Given the description of an element on the screen output the (x, y) to click on. 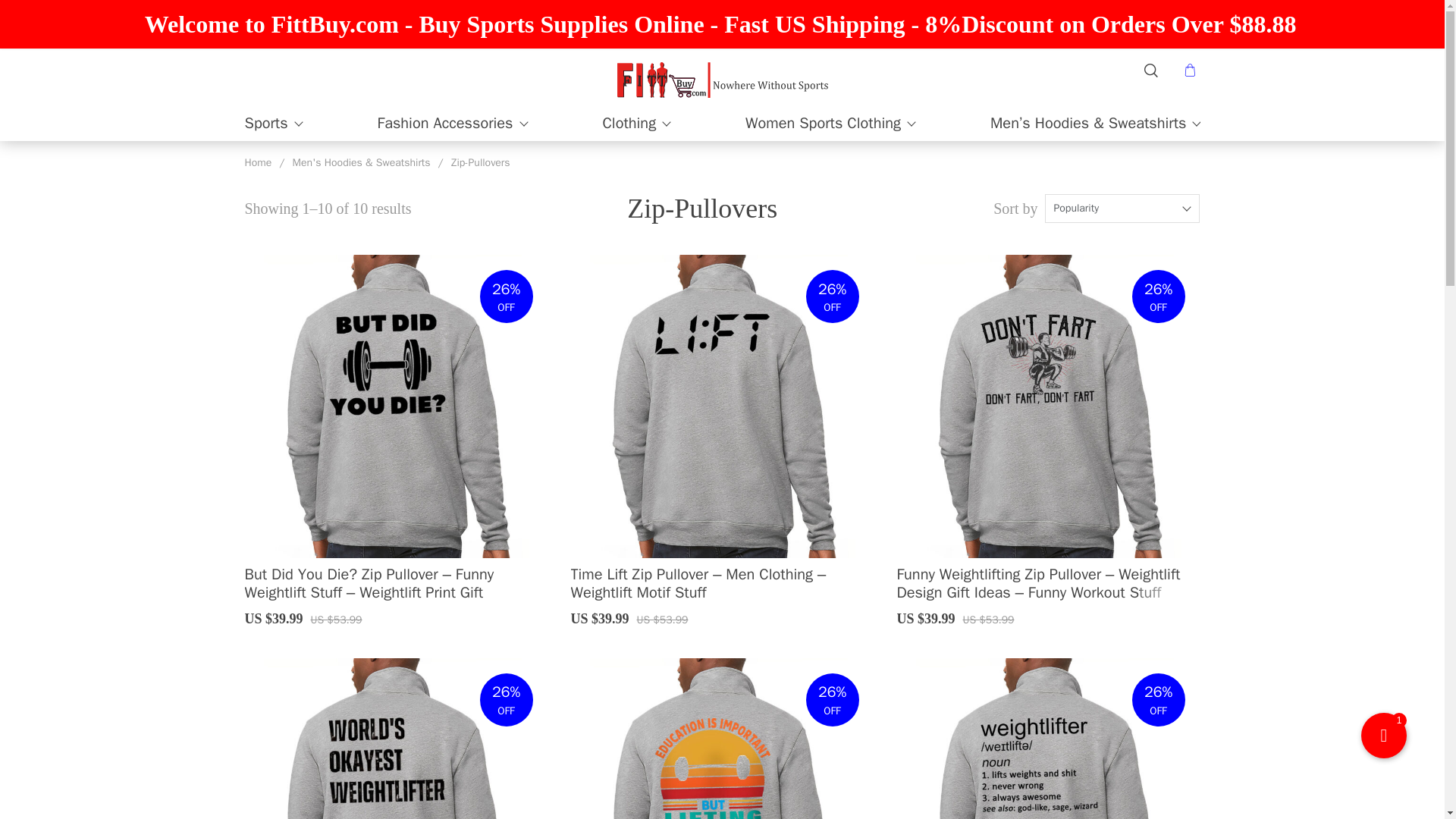
Women Sports Clothing (823, 123)
Sports (265, 123)
Clothing (629, 123)
Fashion Accessories (445, 123)
